Given the description of an element on the screen output the (x, y) to click on. 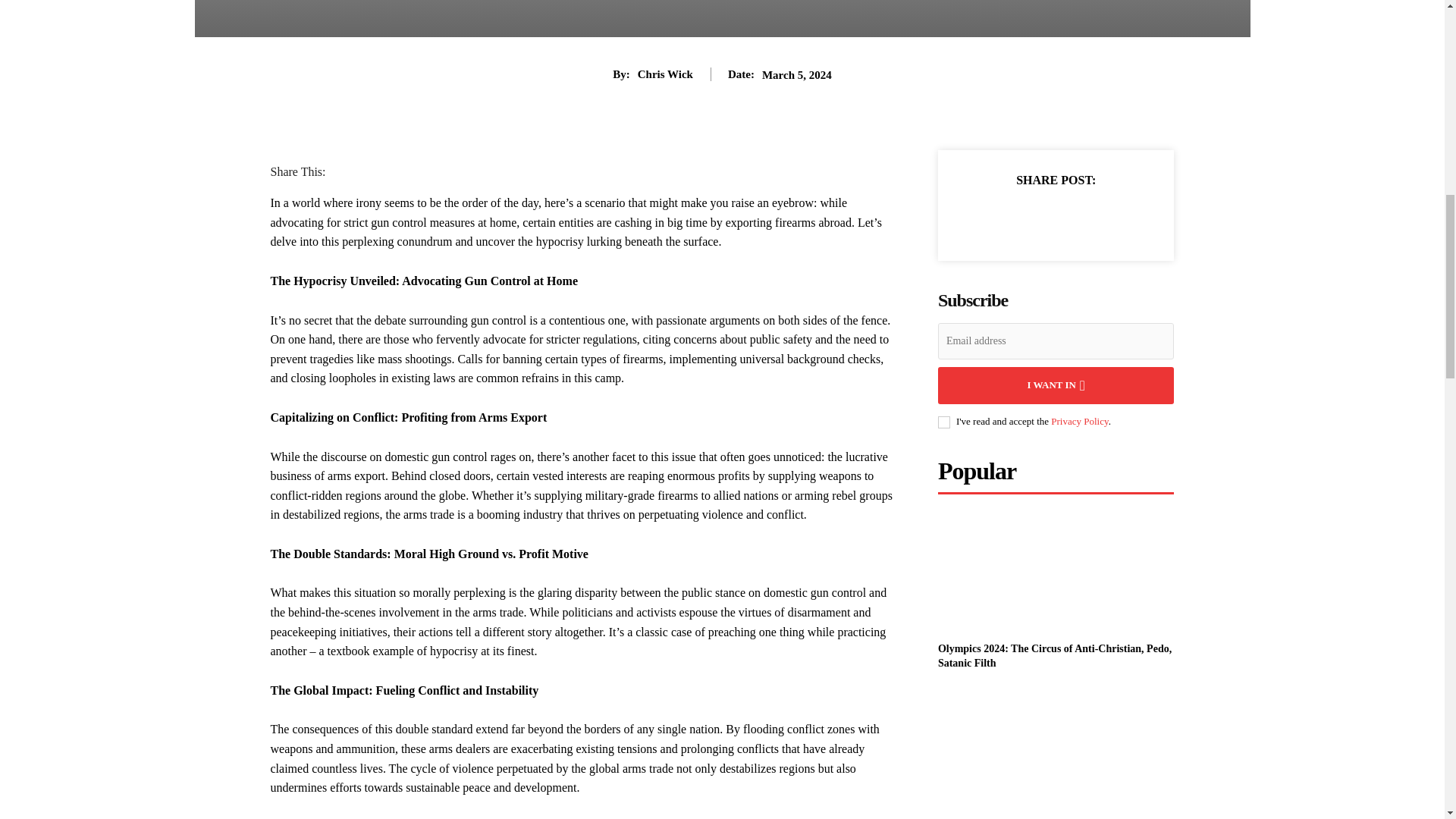
Chris Wick (665, 74)
